Given the description of an element on the screen output the (x, y) to click on. 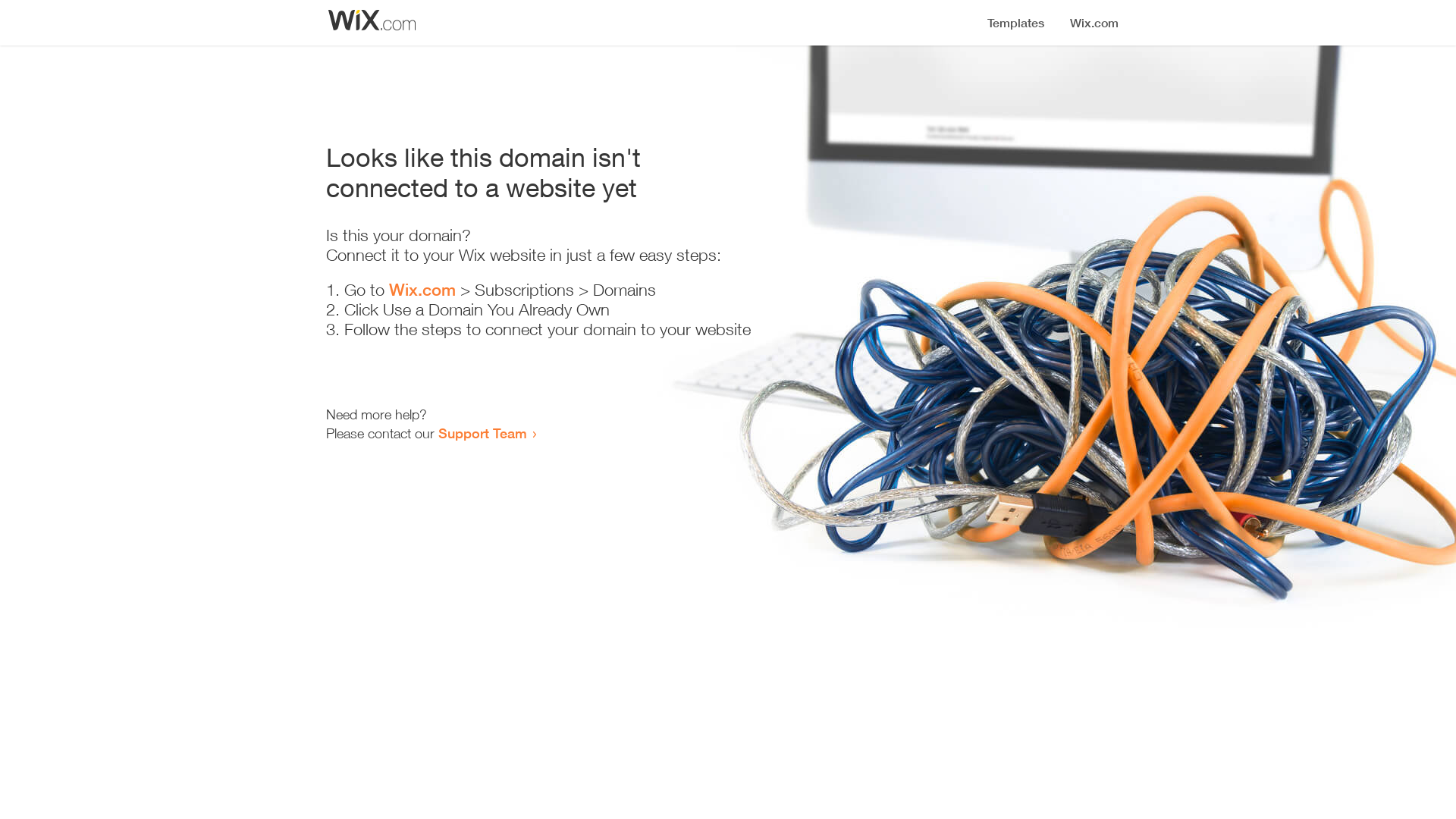
Support Team Element type: text (482, 432)
Wix.com Element type: text (422, 289)
